Given the description of an element on the screen output the (x, y) to click on. 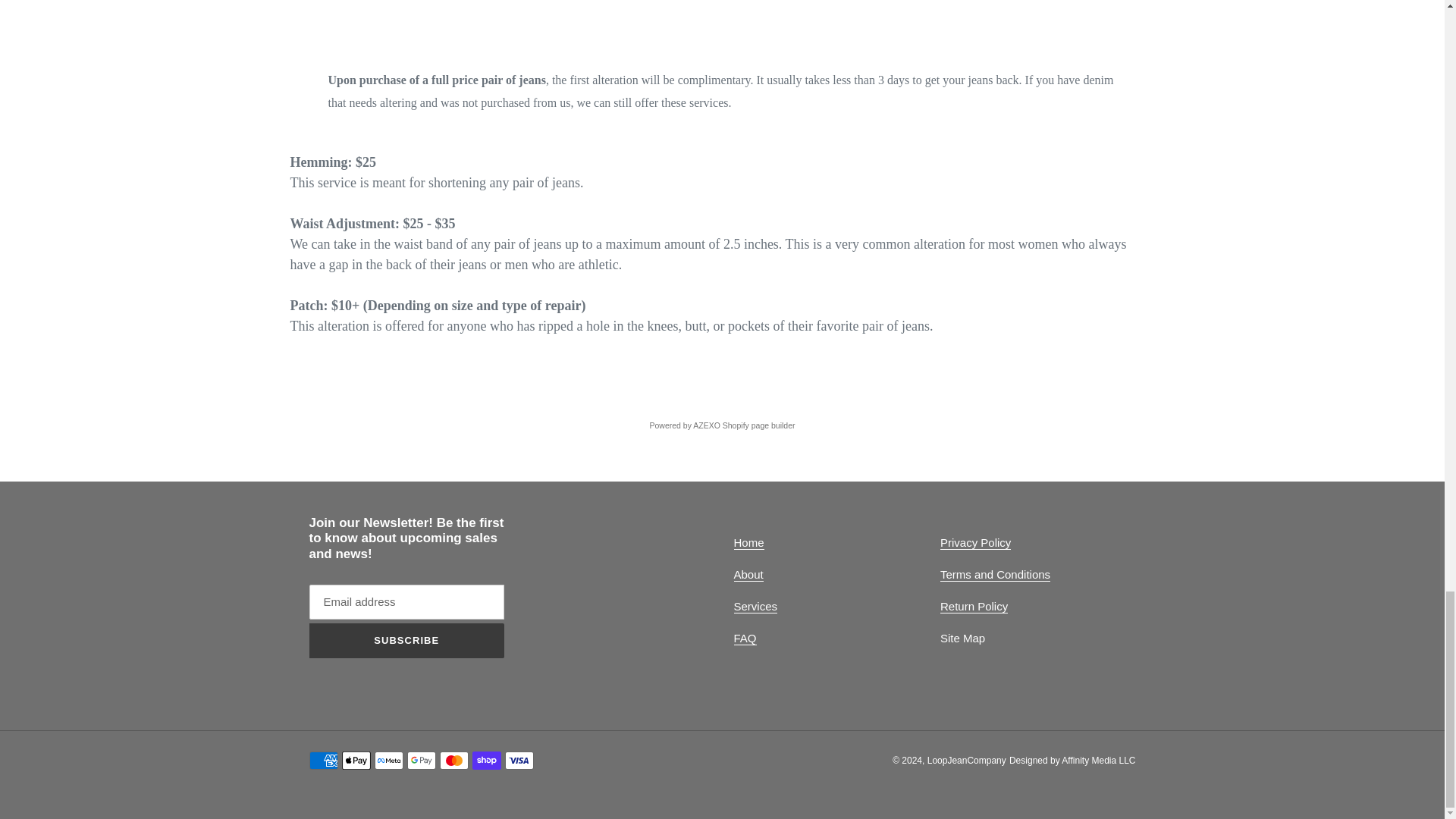
Terms and Conditions (994, 574)
Return Policy (973, 606)
About (747, 574)
Terms and Conditions (994, 574)
SUBSCRIBE (406, 640)
About (747, 574)
Services (755, 606)
AZEXO (706, 424)
Return Policy (973, 606)
LoopJeanCompany (966, 760)
